Given the description of an element on the screen output the (x, y) to click on. 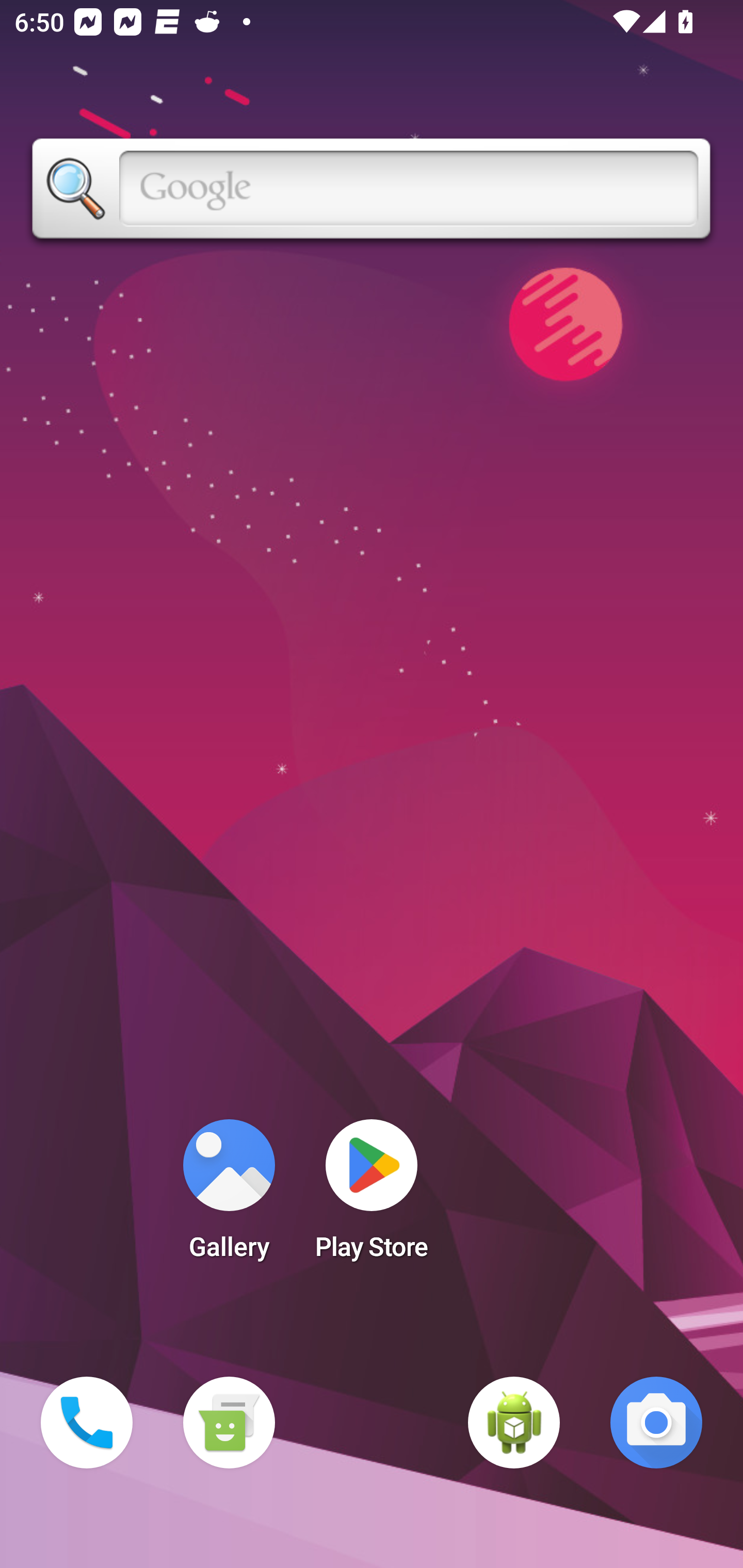
Gallery (228, 1195)
Play Store (371, 1195)
Phone (86, 1422)
Messaging (228, 1422)
WebView Browser Tester (513, 1422)
Camera (656, 1422)
